Given the description of an element on the screen output the (x, y) to click on. 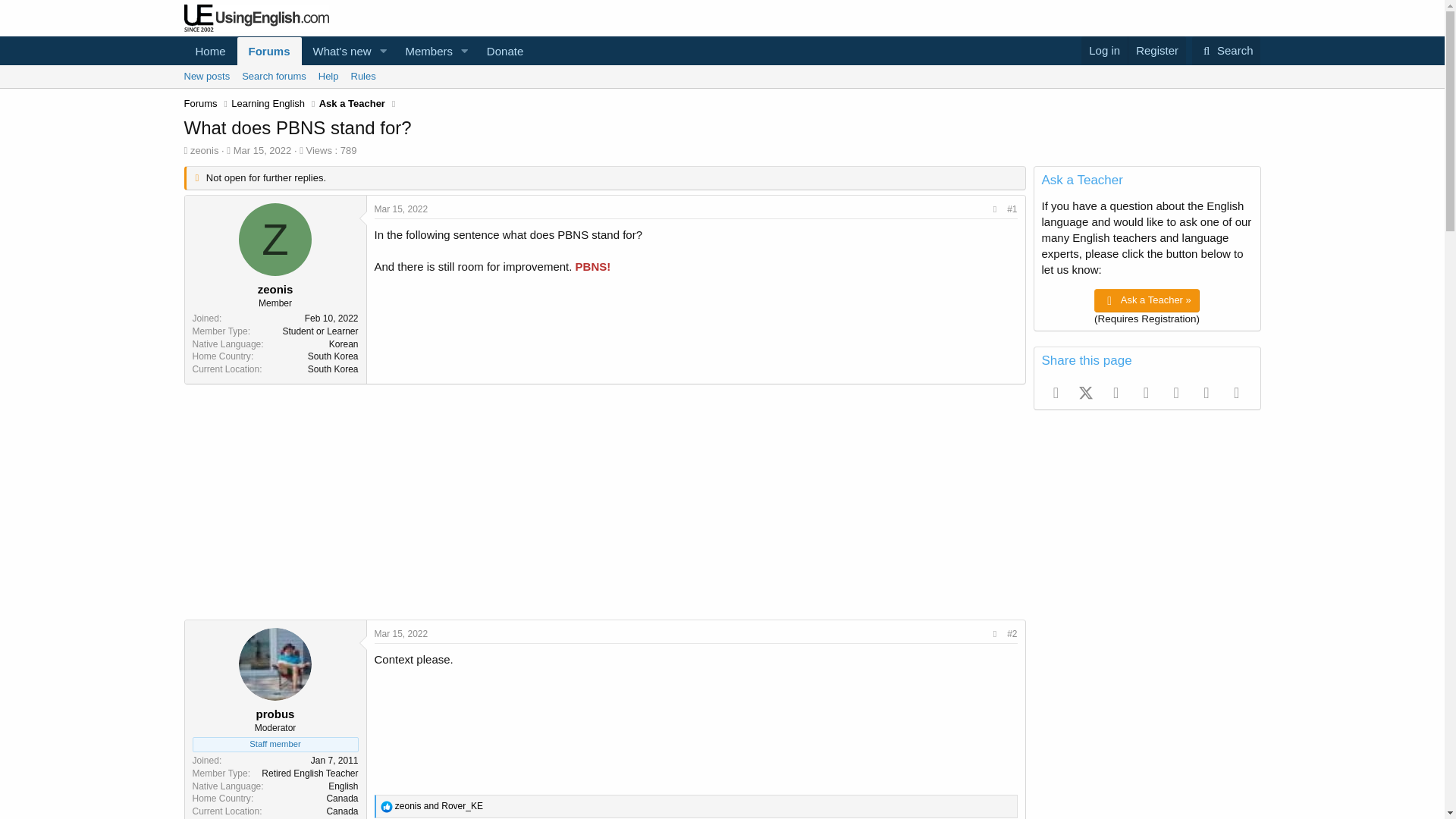
Mar 15, 2022 at 5:37 AM (401, 633)
What's new (336, 50)
Forums (358, 50)
Help (199, 103)
Like (329, 76)
Z (386, 806)
Mar 15, 2022 at 5:19 AM (274, 239)
Members (262, 150)
Learning English (422, 50)
Search (267, 103)
Donate (1226, 50)
Home (505, 50)
Advertisement (209, 50)
